Given the description of an element on the screen output the (x, y) to click on. 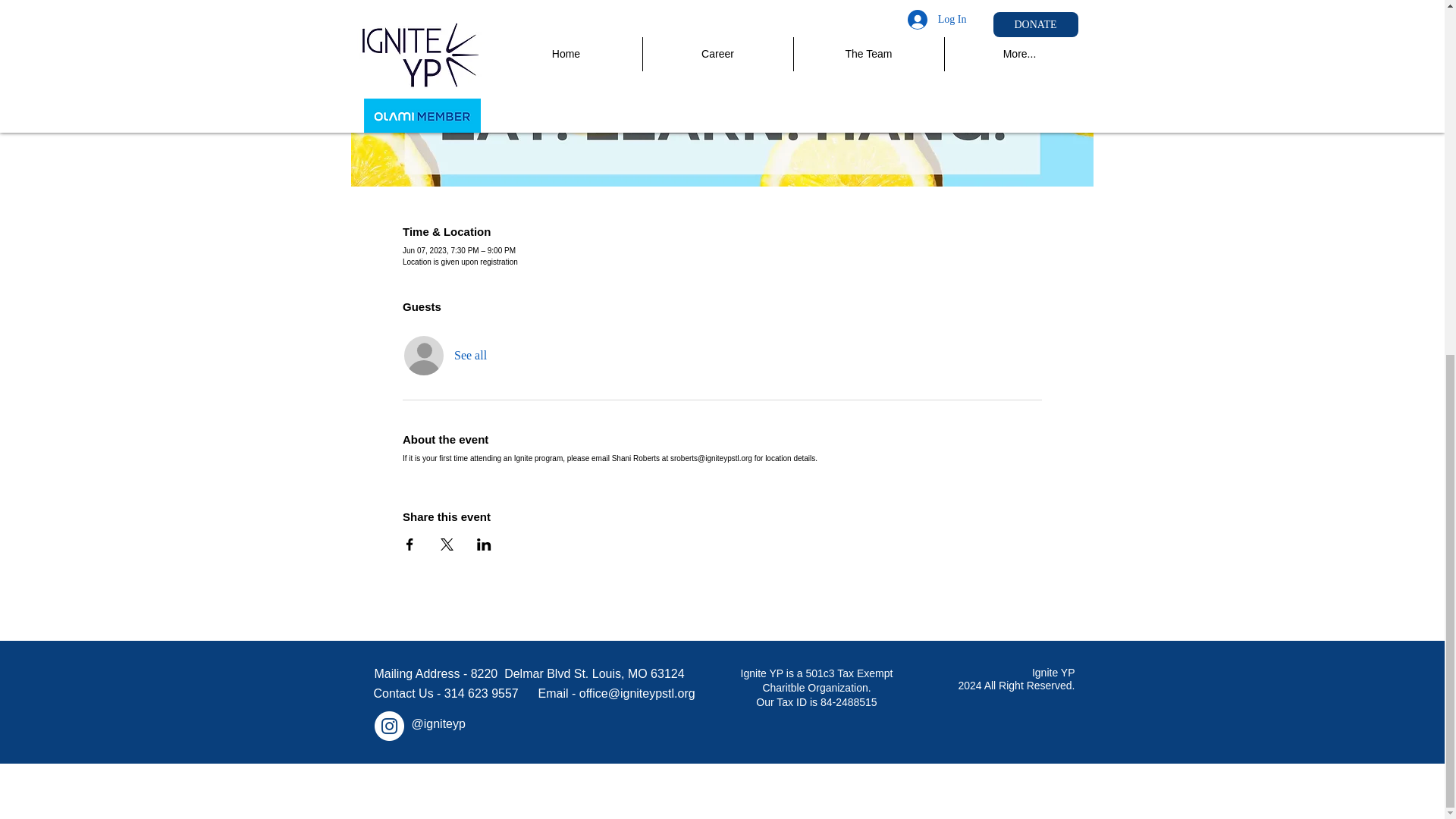
See all (470, 355)
